Given the description of an element on the screen output the (x, y) to click on. 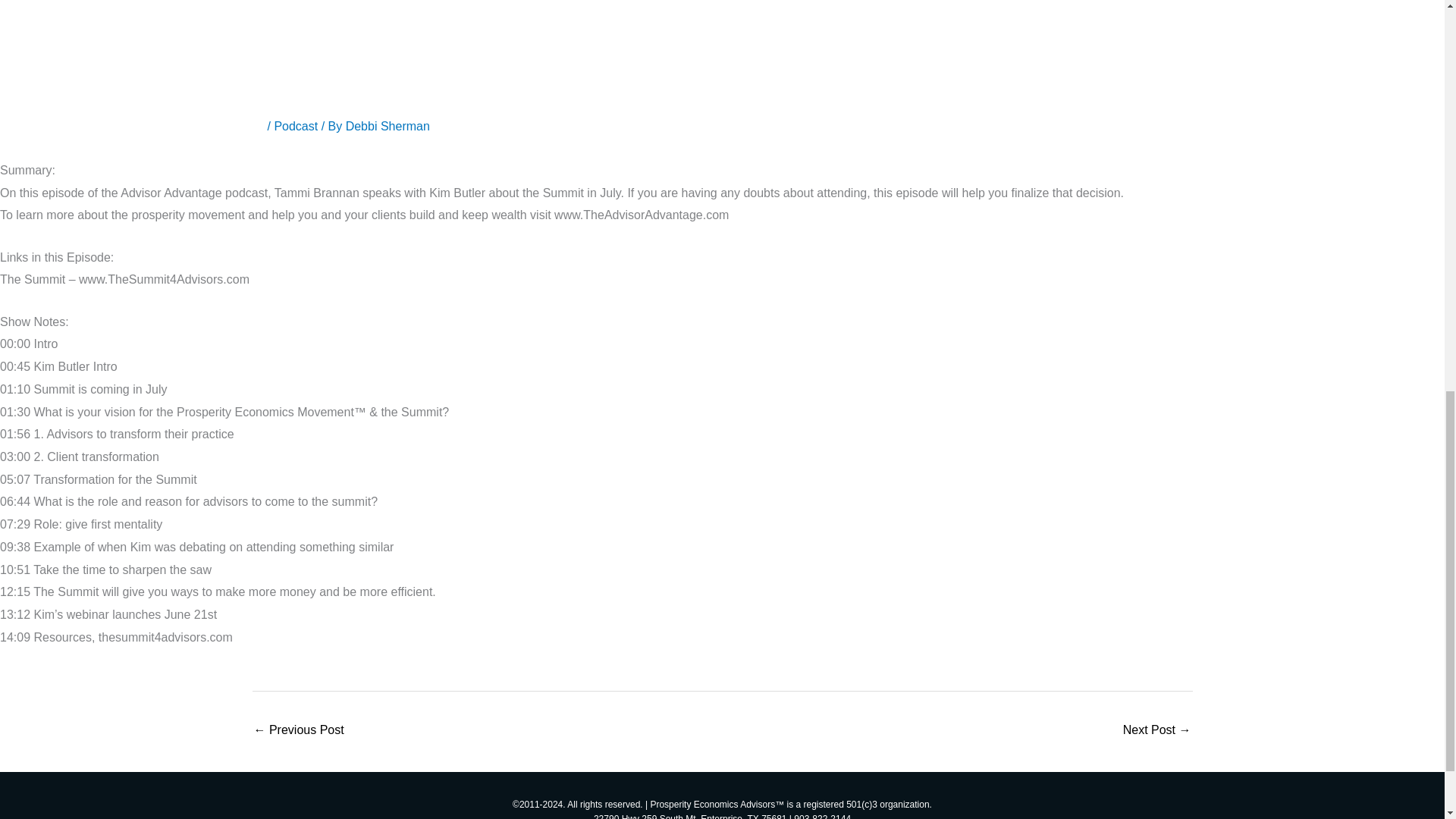
Debbi Sherman (387, 125)
Podcast (295, 125)
How to Find Your Ideal Clients- Bruce Wehner - Episode 012 (298, 731)
View all posts by Debbi Sherman (387, 125)
